Given the description of an element on the screen output the (x, y) to click on. 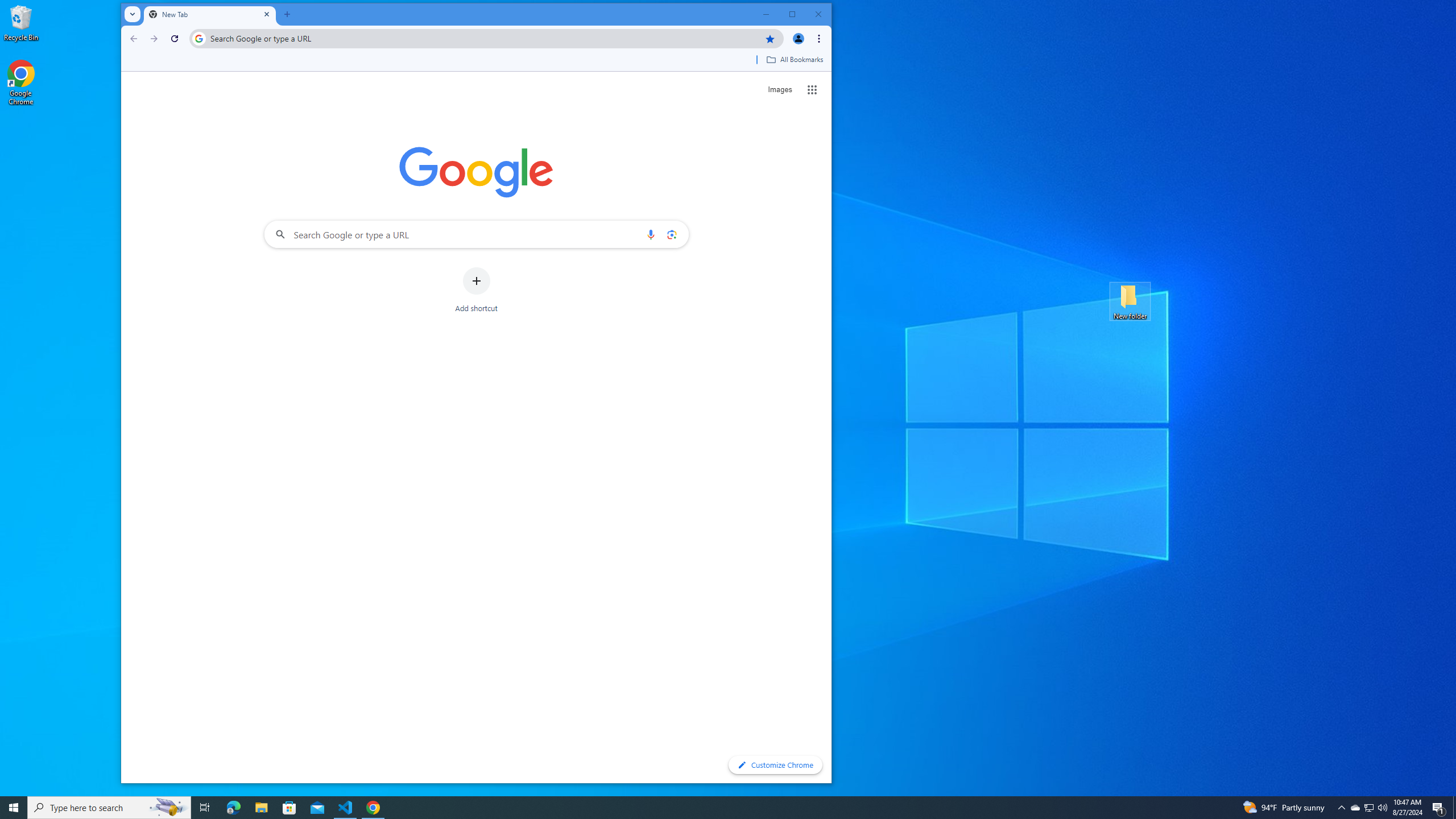
Google Chrome (21, 82)
Recycle Bin (21, 22)
New folder (1130, 301)
